Given the description of an element on the screen output the (x, y) to click on. 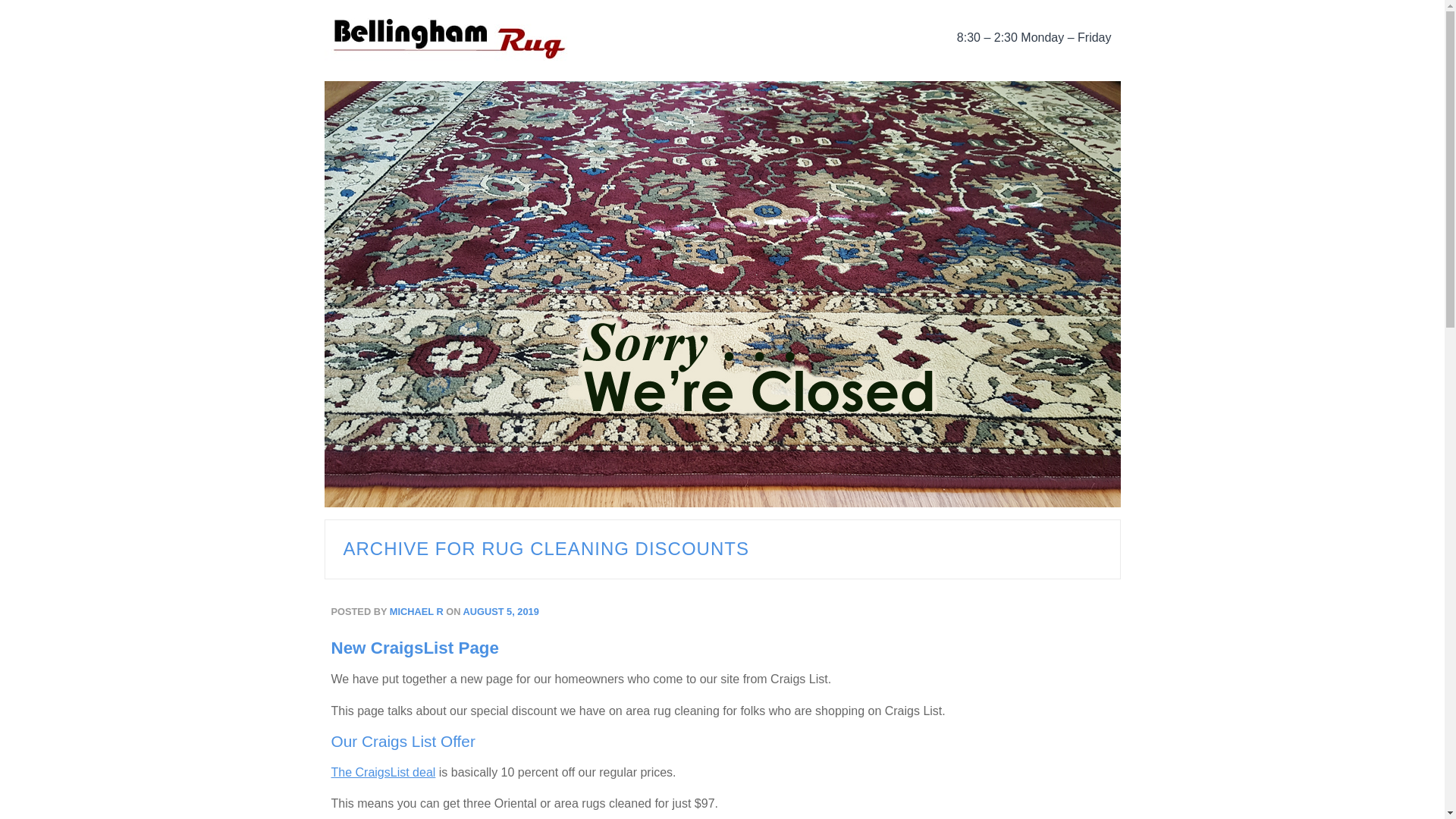
Bellingham Rug (491, 37)
 AUGUST 5, 2019 (499, 611)
Michael R (417, 611)
The CraigsList deal (382, 771)
MICHAEL R (417, 611)
